Given the description of an element on the screen output the (x, y) to click on. 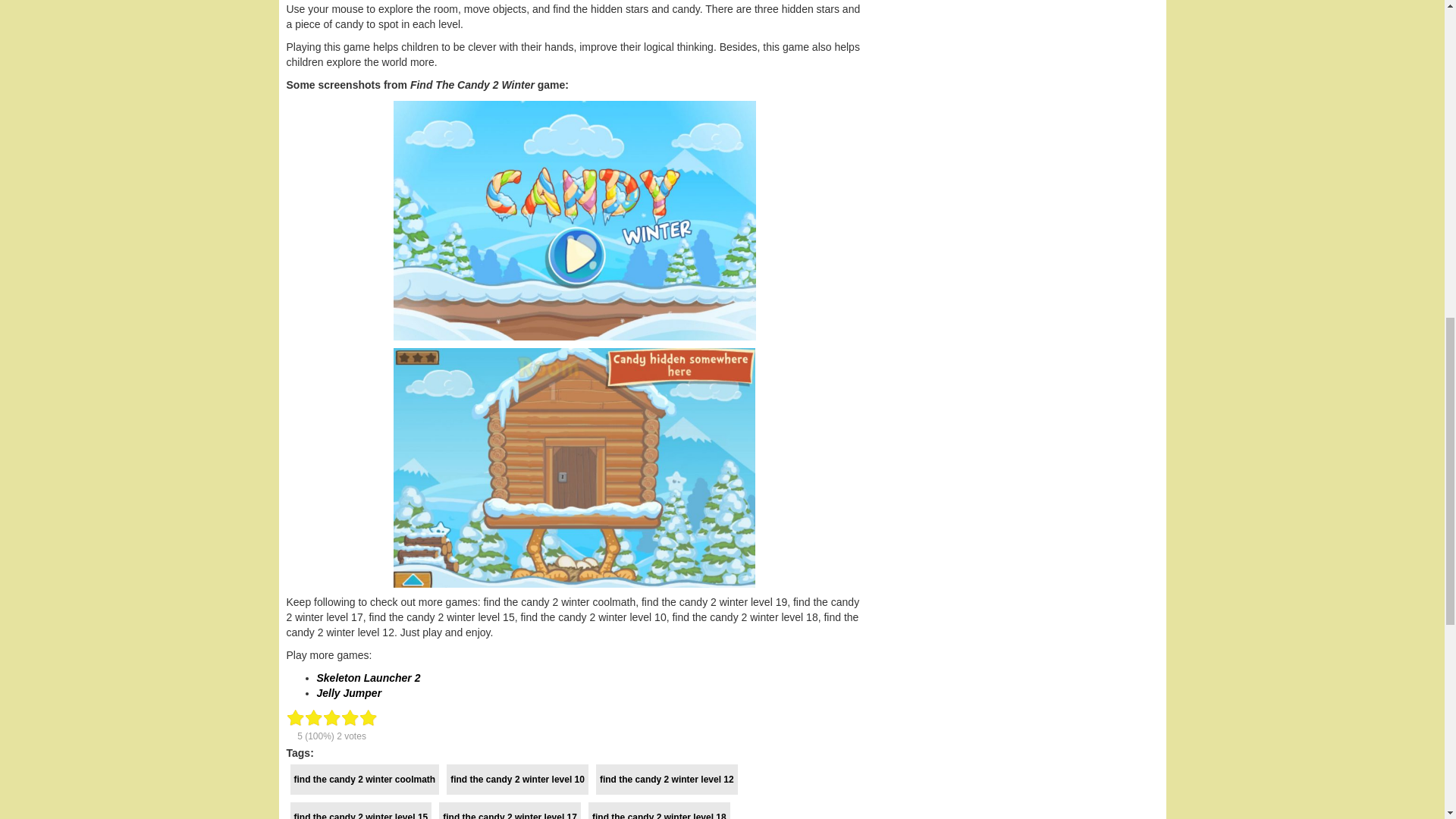
Jelly Jumper (349, 693)
Skeleton Launcher 2 (368, 677)
find the candy 2 winter level 10 (517, 779)
find the candy 2 winter level 18 (659, 810)
find the candy 2 winter level 17 (509, 810)
find the candy 2 winter level 12 (666, 779)
find the candy 2 winter coolmath (364, 779)
find the candy 2 winter level 15 (359, 810)
